Given the description of an element on the screen output the (x, y) to click on. 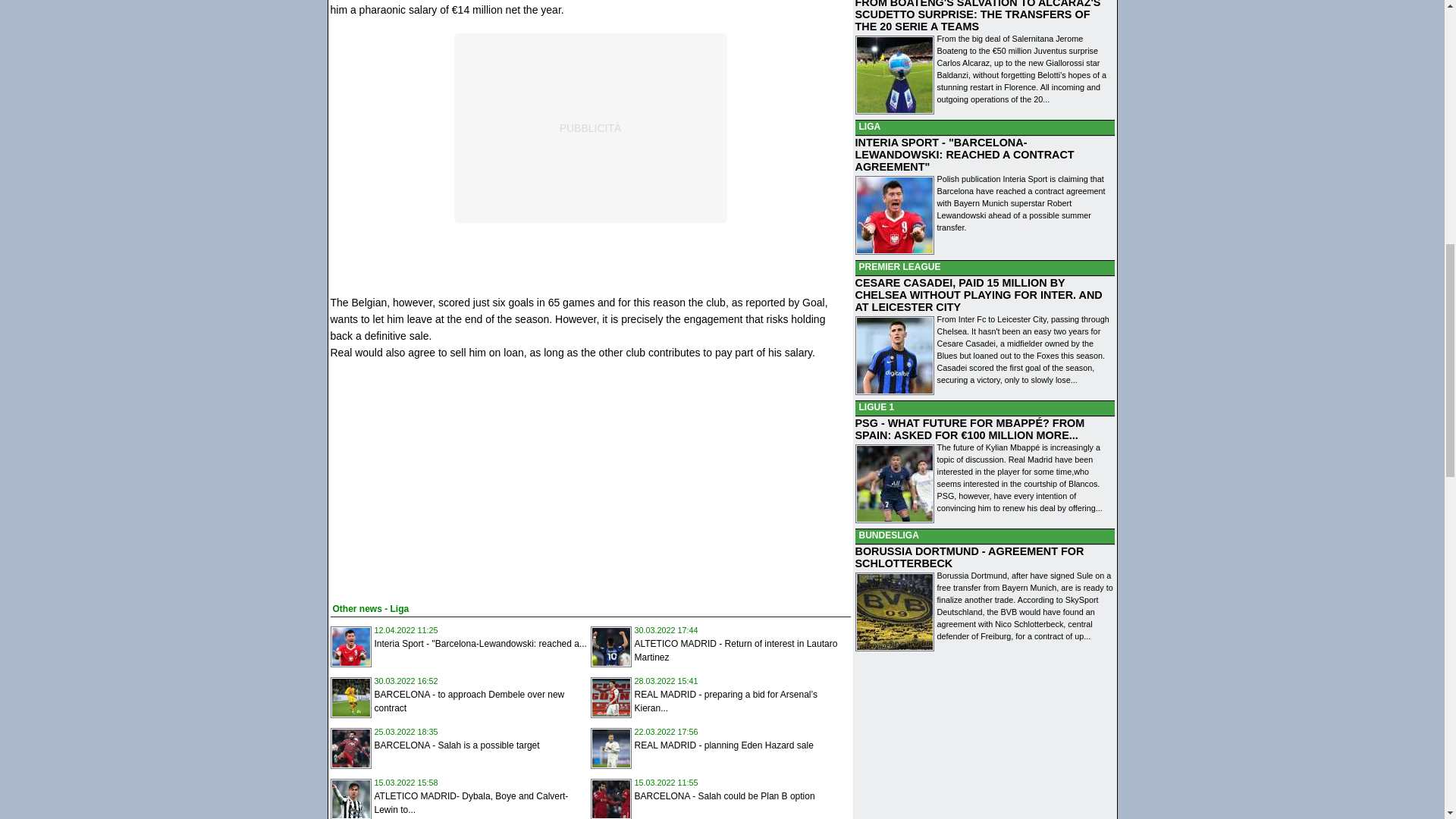
REAL MADRID - planning Eden Hazard sale  (722, 745)
BARCELONA - Salah is a possible target (457, 745)
BARCELONA - Salah could be Plan B option (723, 796)
BARCELONA - Salah could be Plan B option (723, 796)
BARCELONA - to approach Dembele over new contract (469, 701)
ALTETICO MADRID - Return of interest in Lautaro Martinez (735, 650)
BARCELONA - Salah is a possible target (457, 745)
ATLETICO MADRID- Dybala, Boye and Calvert-Lewin to... (471, 802)
REAL MADRID - planning Eden Hazard sale (722, 745)
